Given the description of an element on the screen output the (x, y) to click on. 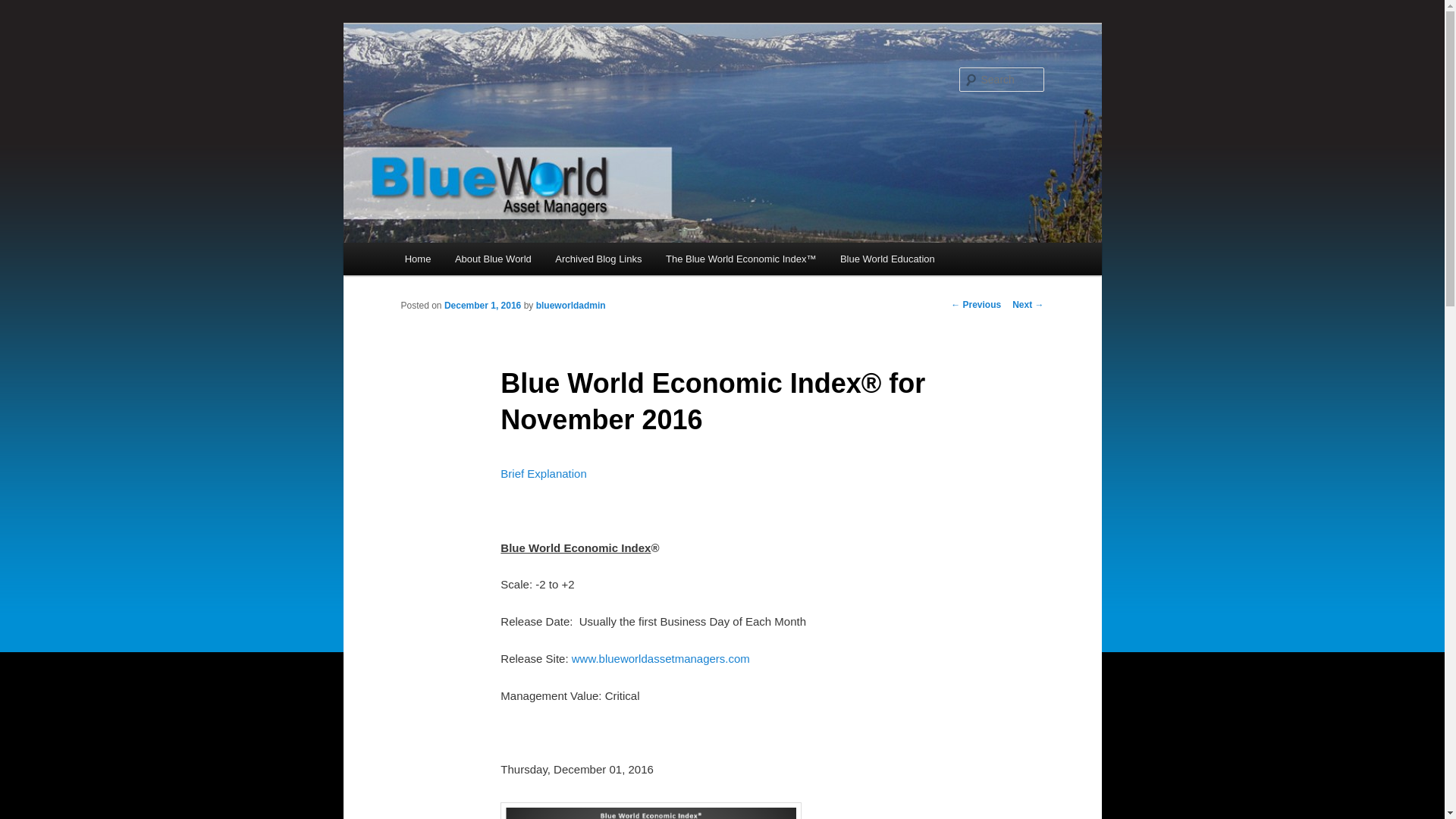
blueworldadmin (570, 305)
About Blue World (492, 258)
www.blueworldassetmanagers.com (660, 658)
December 1, 2016 (482, 305)
Search (24, 8)
Blue World Education (887, 258)
Brief Explanation (543, 472)
Archived Blog Links (598, 258)
Home (417, 258)
View all posts by blueworldadmin (570, 305)
8:10 pm (482, 305)
